Given the description of an element on the screen output the (x, y) to click on. 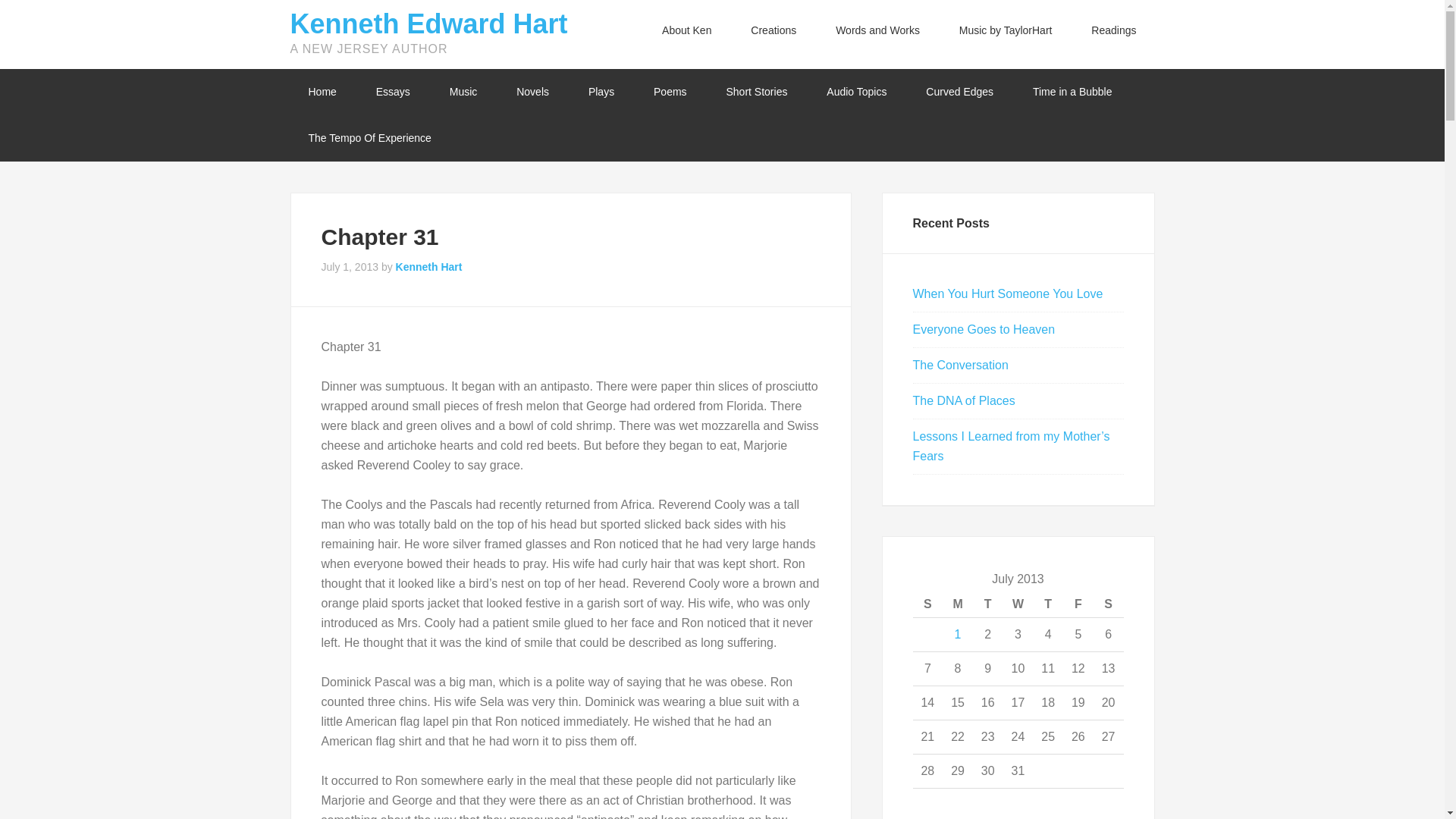
The Tempo Of Experience (368, 138)
About Ken (686, 30)
When You Hurt Someone You Love (1007, 293)
Novels (532, 91)
Curved Edges (959, 91)
The DNA of Places (963, 400)
Thursday (1047, 604)
Readings (1113, 30)
Essays (393, 91)
Kenneth Hart (429, 266)
Plays (600, 91)
Creations (772, 30)
Friday (1077, 604)
Sunday (927, 604)
Home (321, 91)
